Given the description of an element on the screen output the (x, y) to click on. 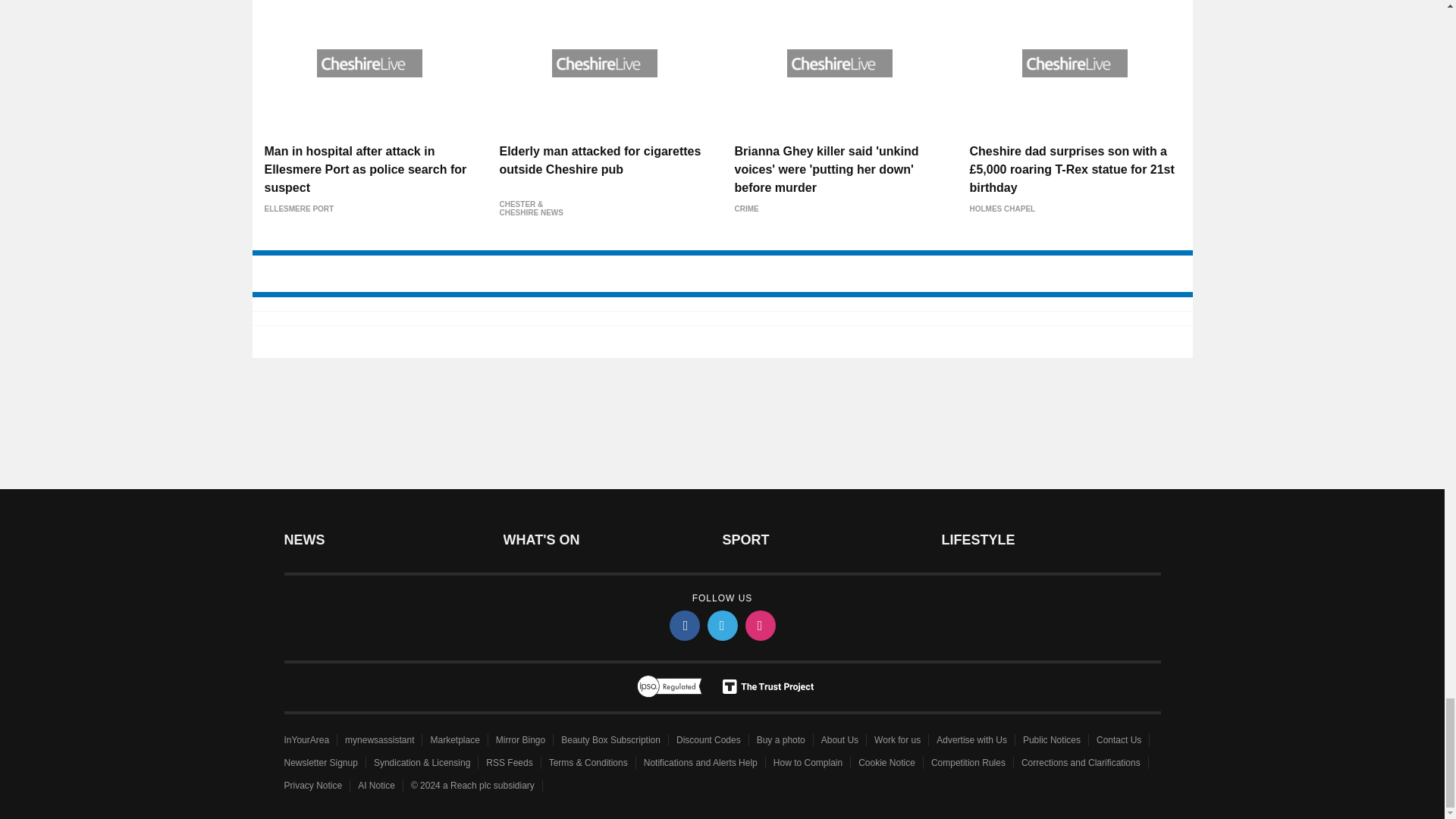
twitter (721, 625)
instagram (759, 625)
facebook (683, 625)
